Given the description of an element on the screen output the (x, y) to click on. 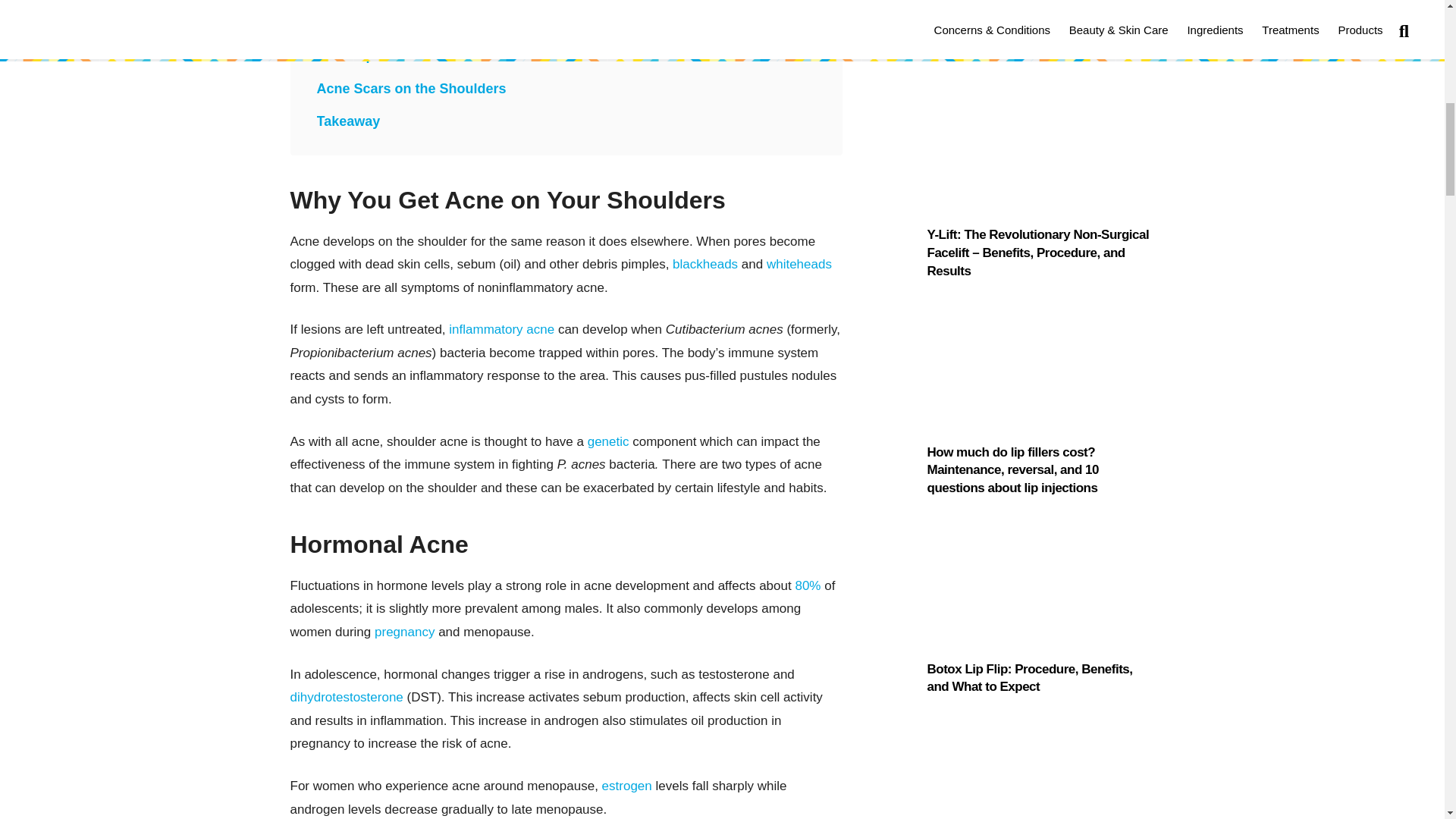
How to prevent shoulder acne (414, 55)
